Given the description of an element on the screen output the (x, y) to click on. 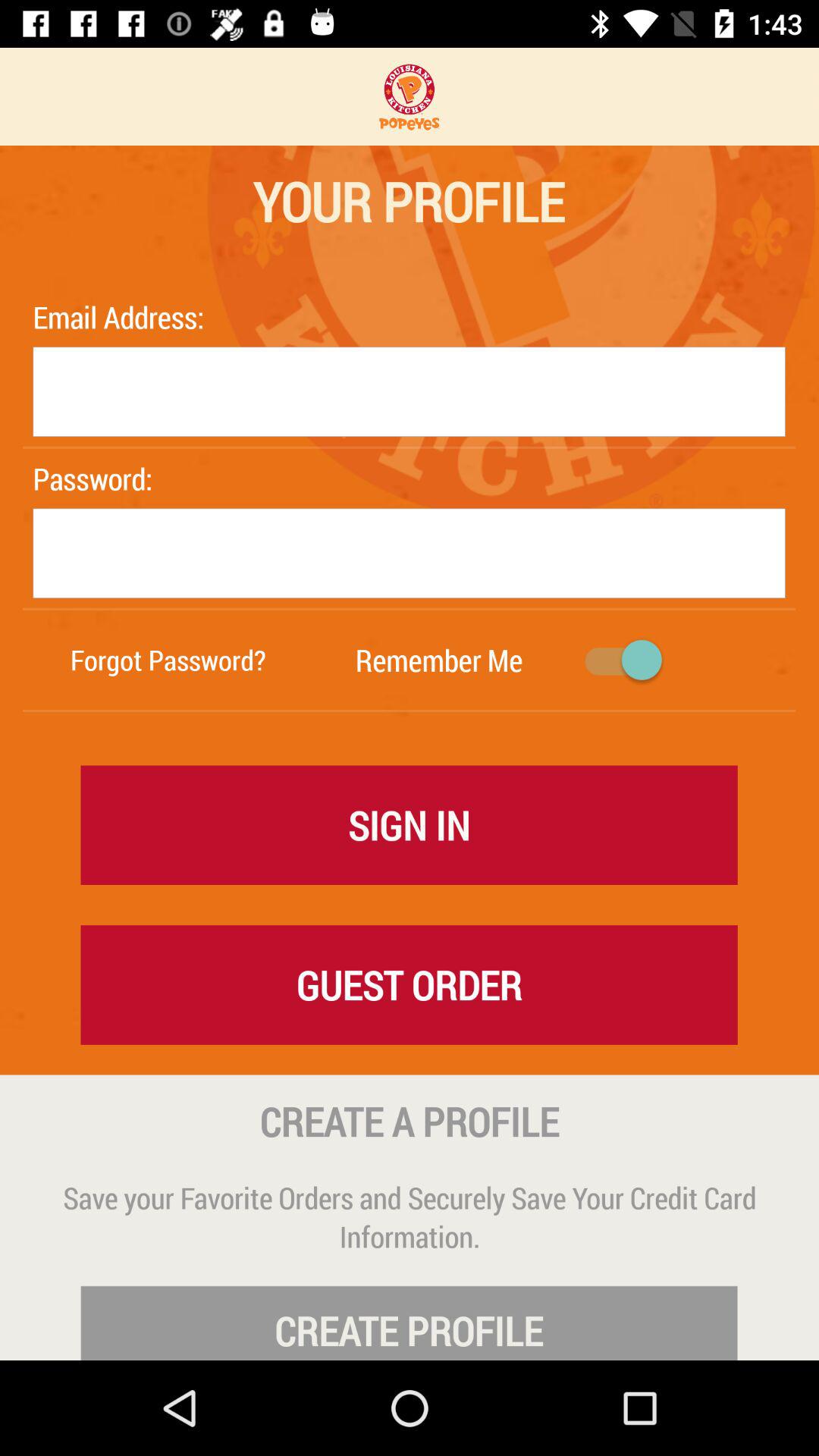
swipe until the forgot password? icon (167, 659)
